Given the description of an element on the screen output the (x, y) to click on. 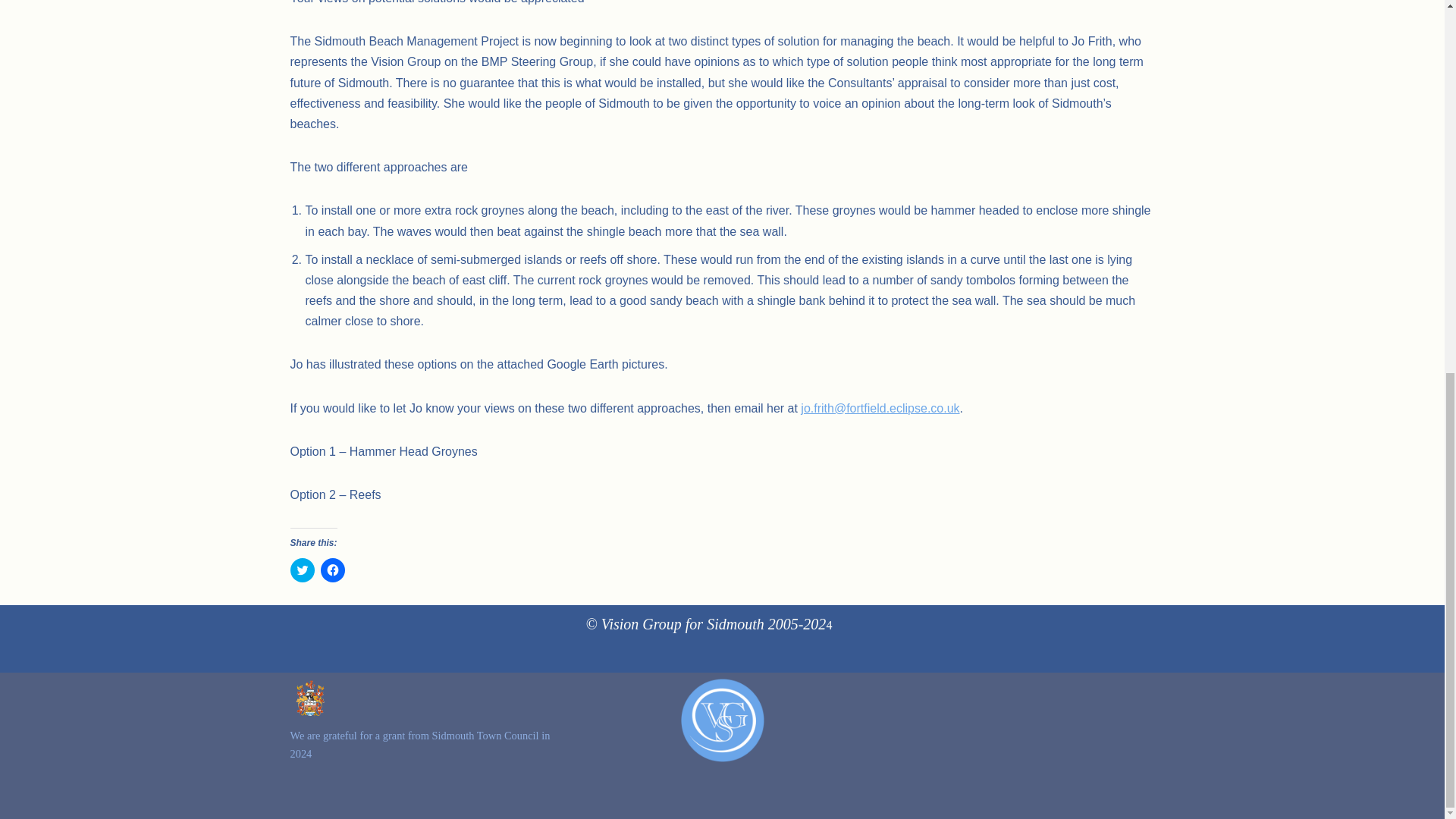
Click to share on Twitter (301, 569)
Click to share on Facebook (331, 569)
